Given the description of an element on the screen output the (x, y) to click on. 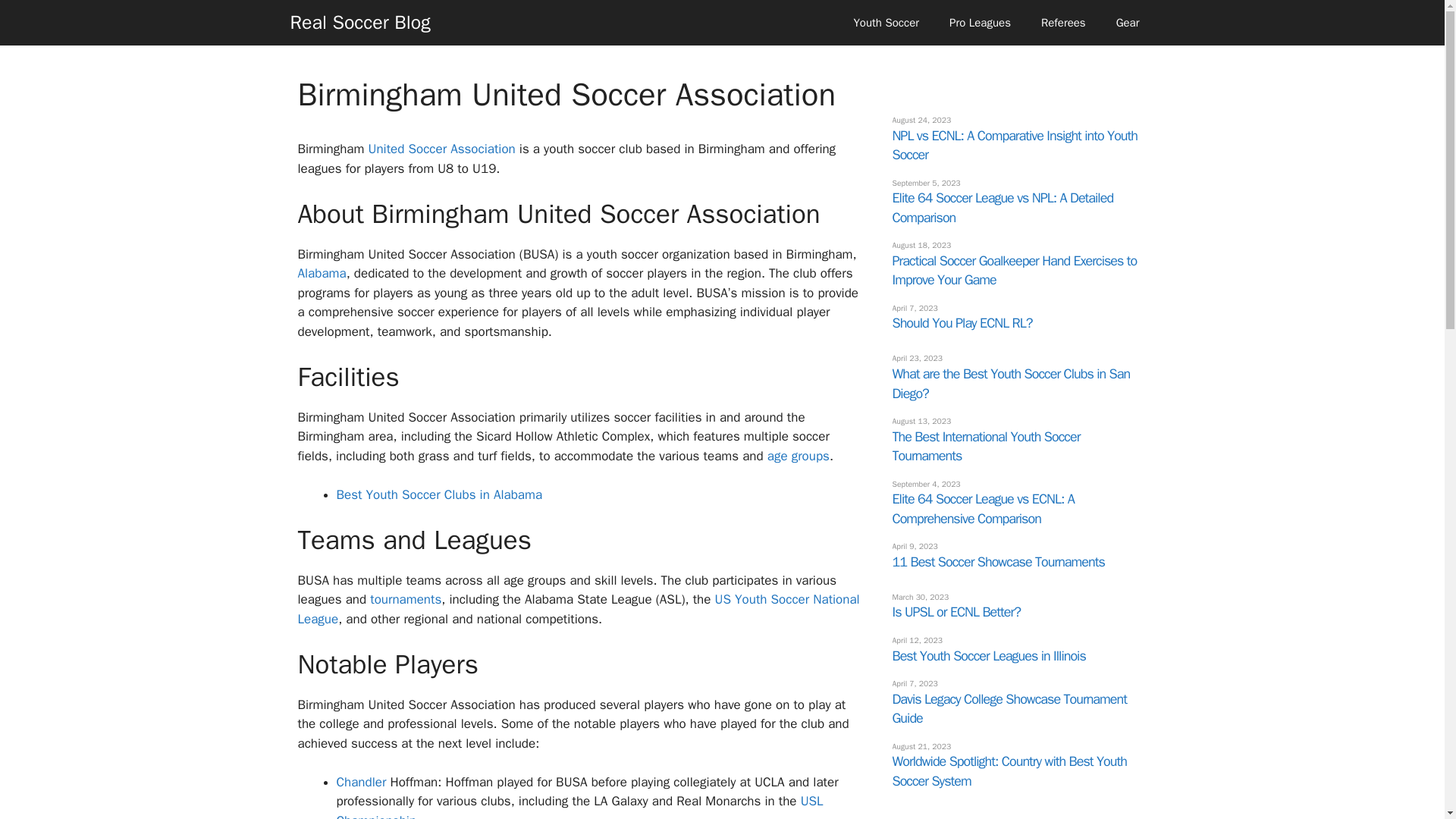
Pro Leagues (980, 22)
tournaments (405, 599)
United Soccer Association (441, 148)
Real Soccer Blog (359, 22)
US Youth Soccer National League (578, 609)
Chandler (361, 781)
Youth Soccer (886, 22)
USL Championship (580, 806)
Best Youth Soccer Clubs in Alabama (439, 494)
age groups (798, 455)
Alabama (321, 273)
Referees (1063, 22)
Gear (1127, 22)
NPL vs ECNL: A Comparative Insight into Youth Soccer (1014, 145)
